Given the description of an element on the screen output the (x, y) to click on. 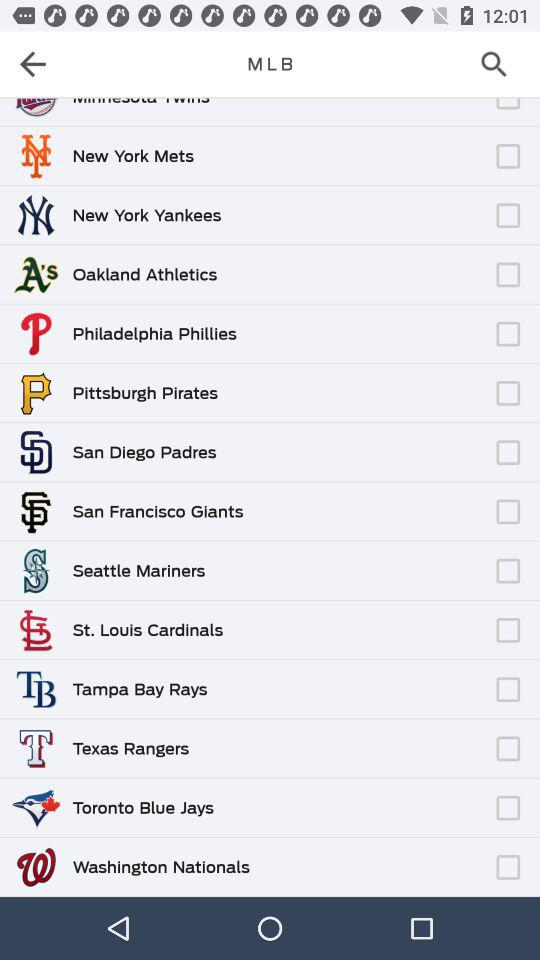
click the st. louis cardinals item (147, 629)
